Given the description of an element on the screen output the (x, y) to click on. 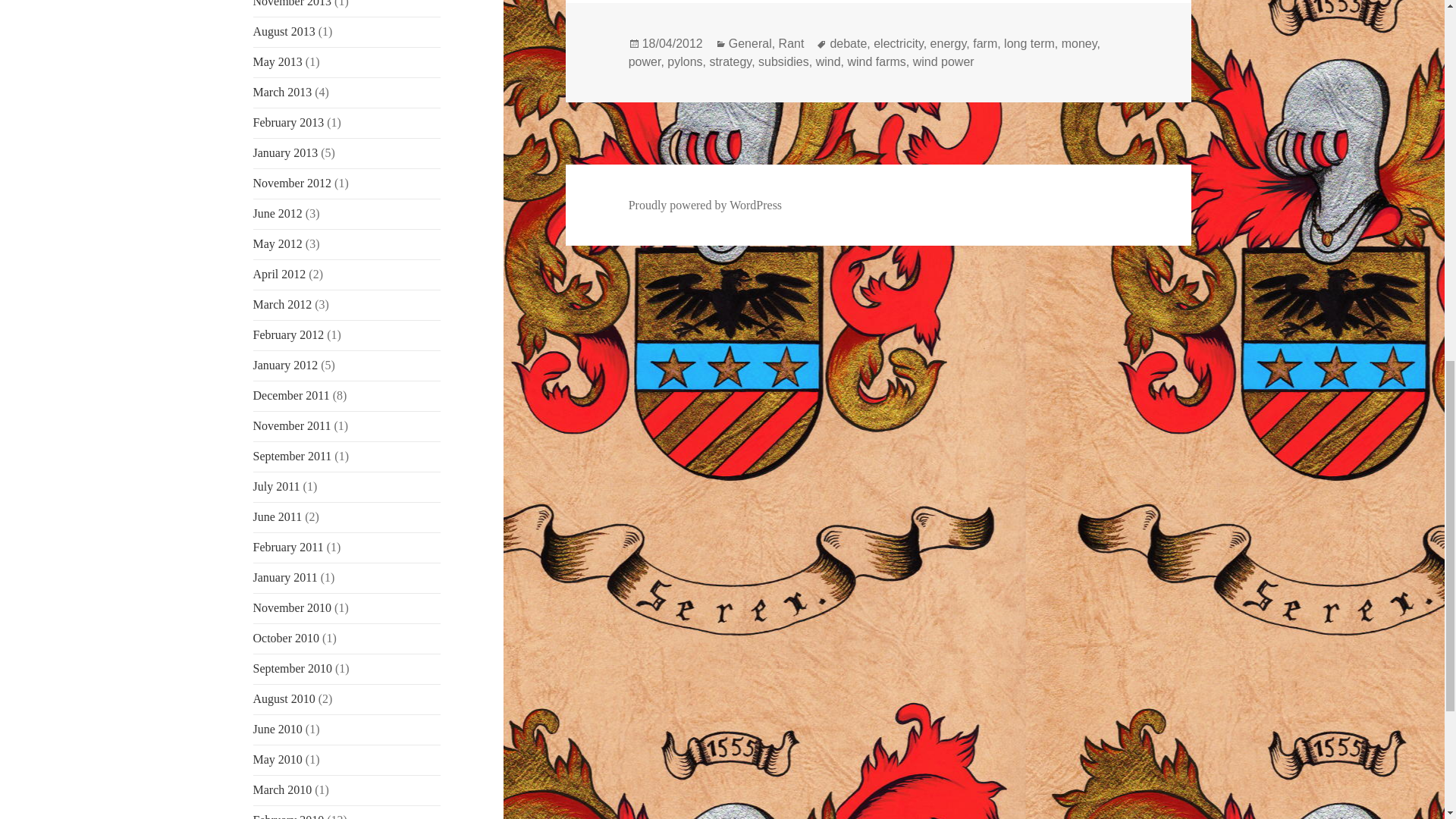
May 2013 (277, 61)
June 2010 (277, 728)
February 2012 (288, 334)
February 2013 (288, 122)
January 2011 (285, 576)
October 2010 (286, 637)
January 2012 (285, 364)
January 2013 (285, 152)
November 2011 (292, 425)
March 2012 (283, 304)
August 2013 (284, 31)
September 2010 (292, 667)
July 2011 (276, 486)
September 2011 (292, 455)
March 2013 (283, 91)
